Given the description of an element on the screen output the (x, y) to click on. 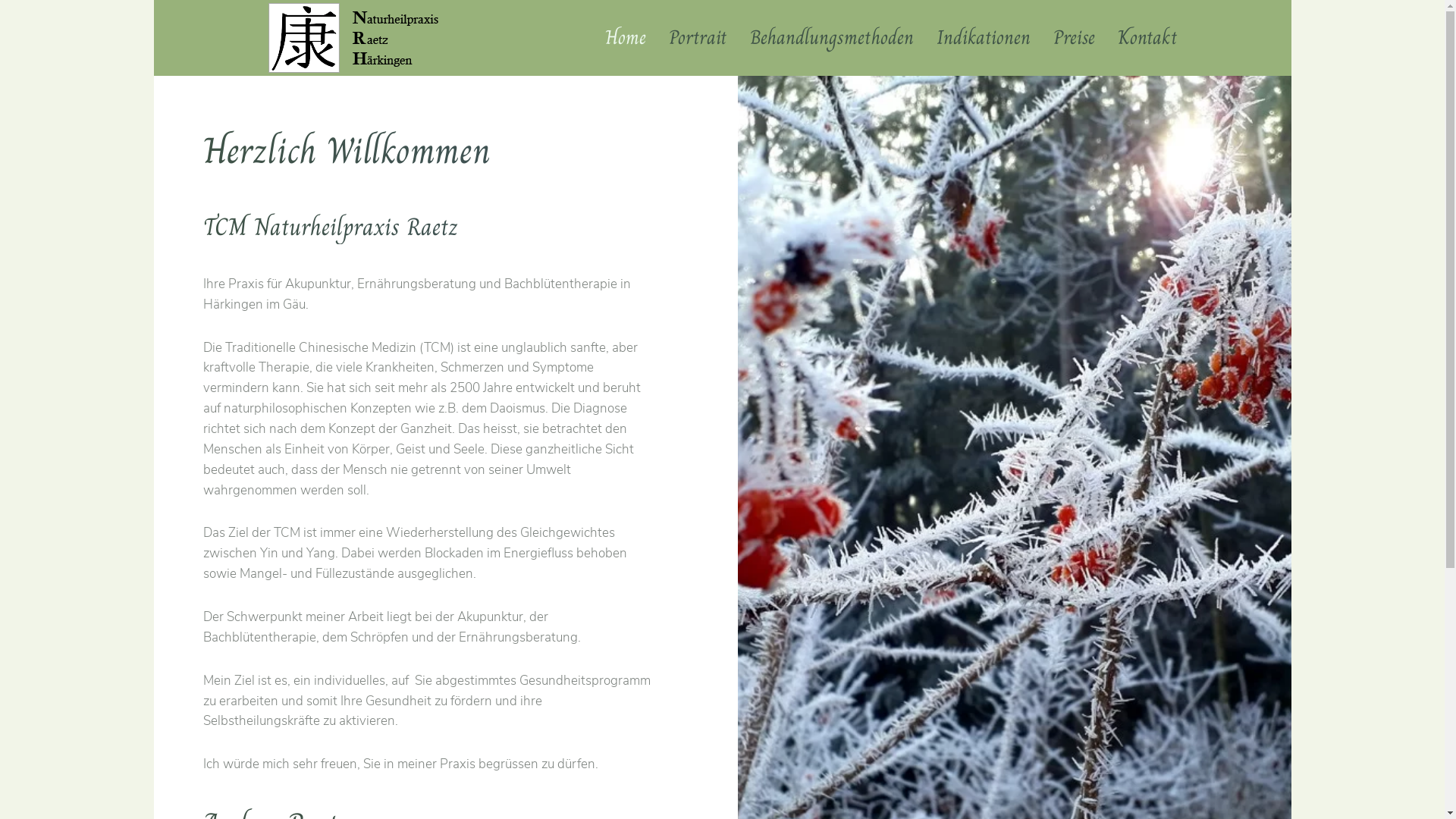
Indikationen Element type: text (982, 37)
Home Element type: text (625, 37)
Behandlungsmethoden Element type: text (831, 37)
Preise Element type: text (1073, 37)
Portrait Element type: text (697, 37)
Kontakt Element type: text (1147, 37)
